Given the description of an element on the screen output the (x, y) to click on. 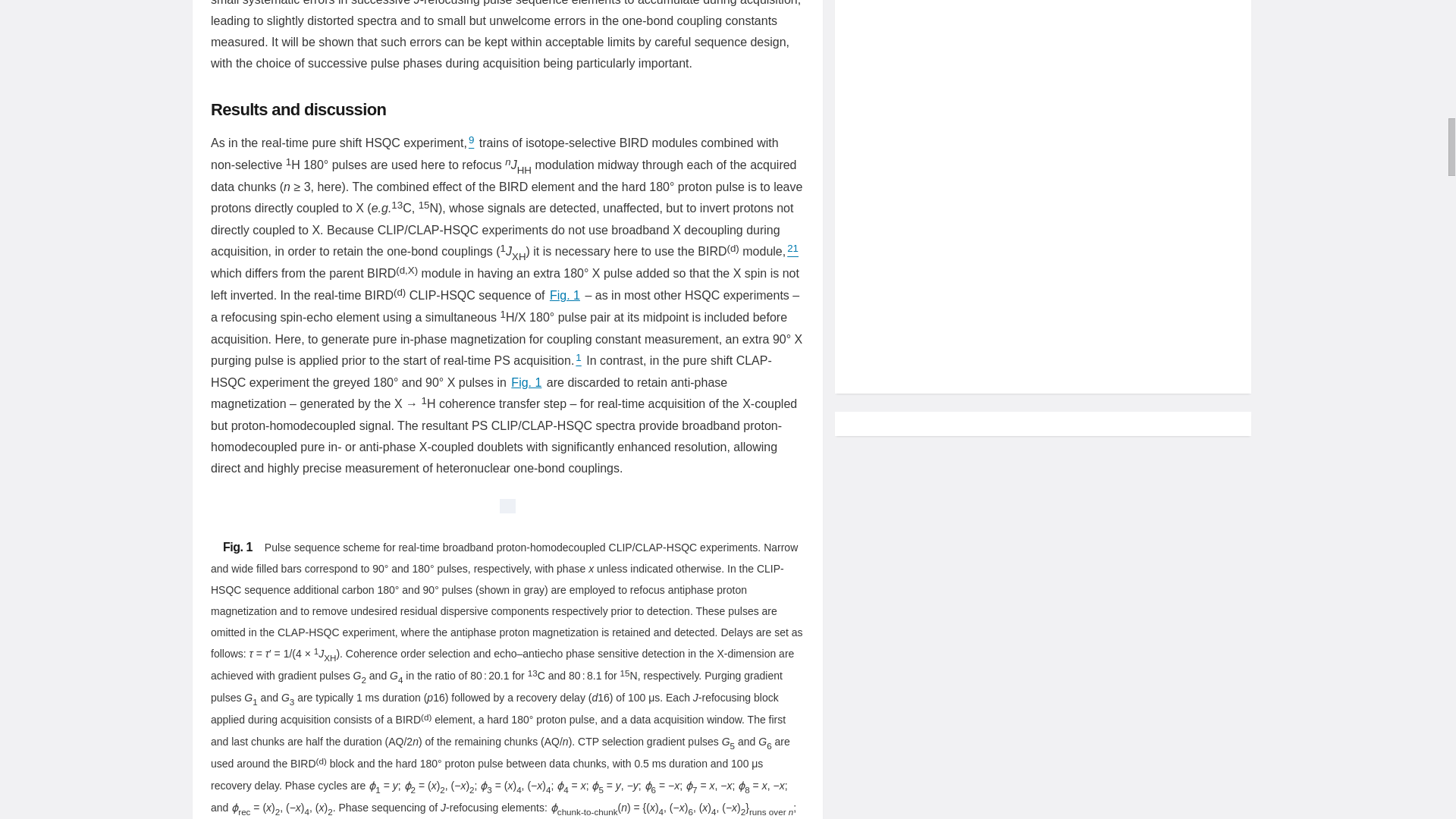
Select to open image in new window (506, 509)
